Given the description of an element on the screen output the (x, y) to click on. 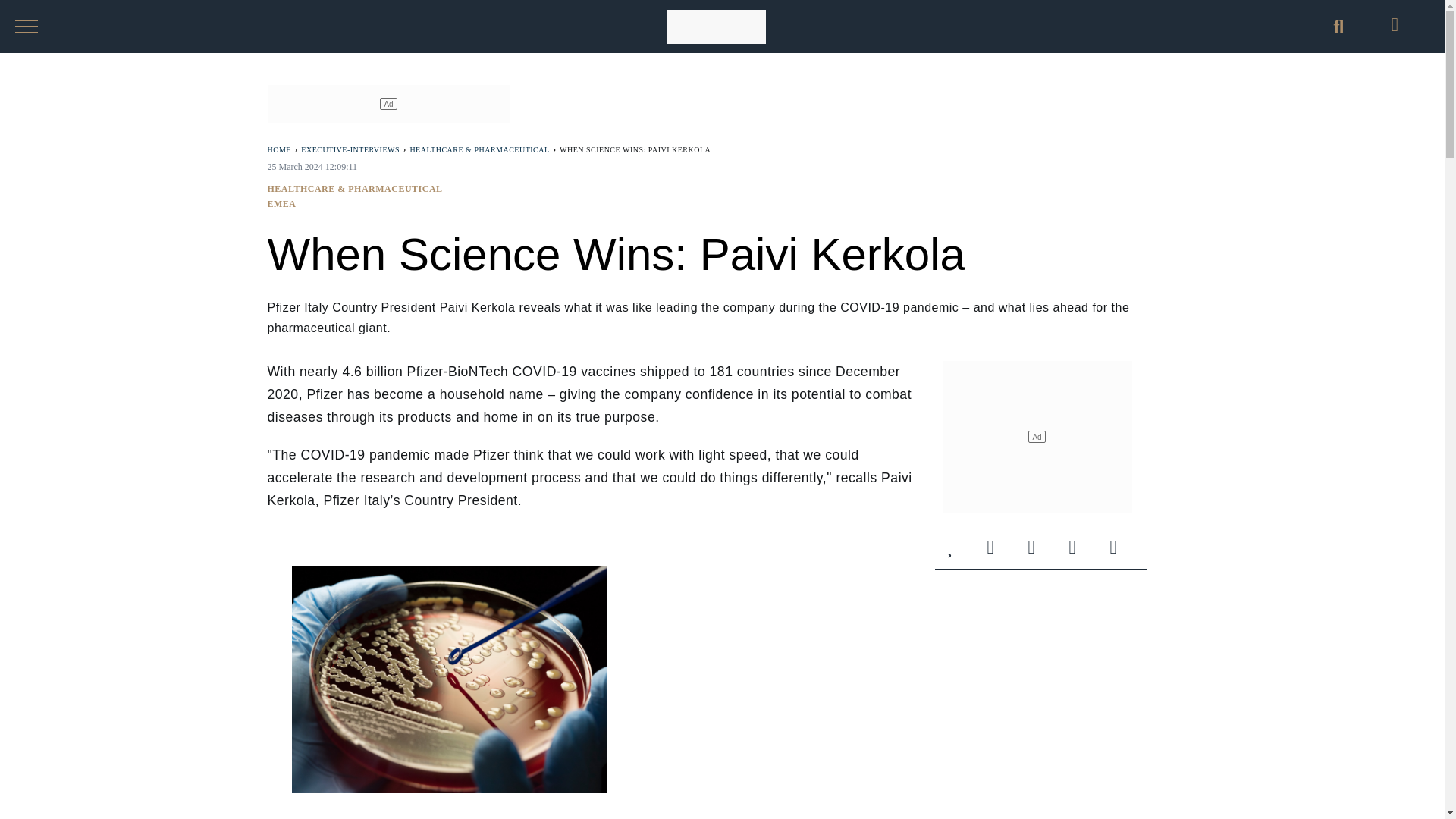
Subscribe (1122, 547)
Sign-up (1122, 549)
Share to Linkedin (1081, 549)
EMEA (280, 204)
Share to Facebook (1000, 549)
Share to Twitter (1040, 549)
